Given the description of an element on the screen output the (x, y) to click on. 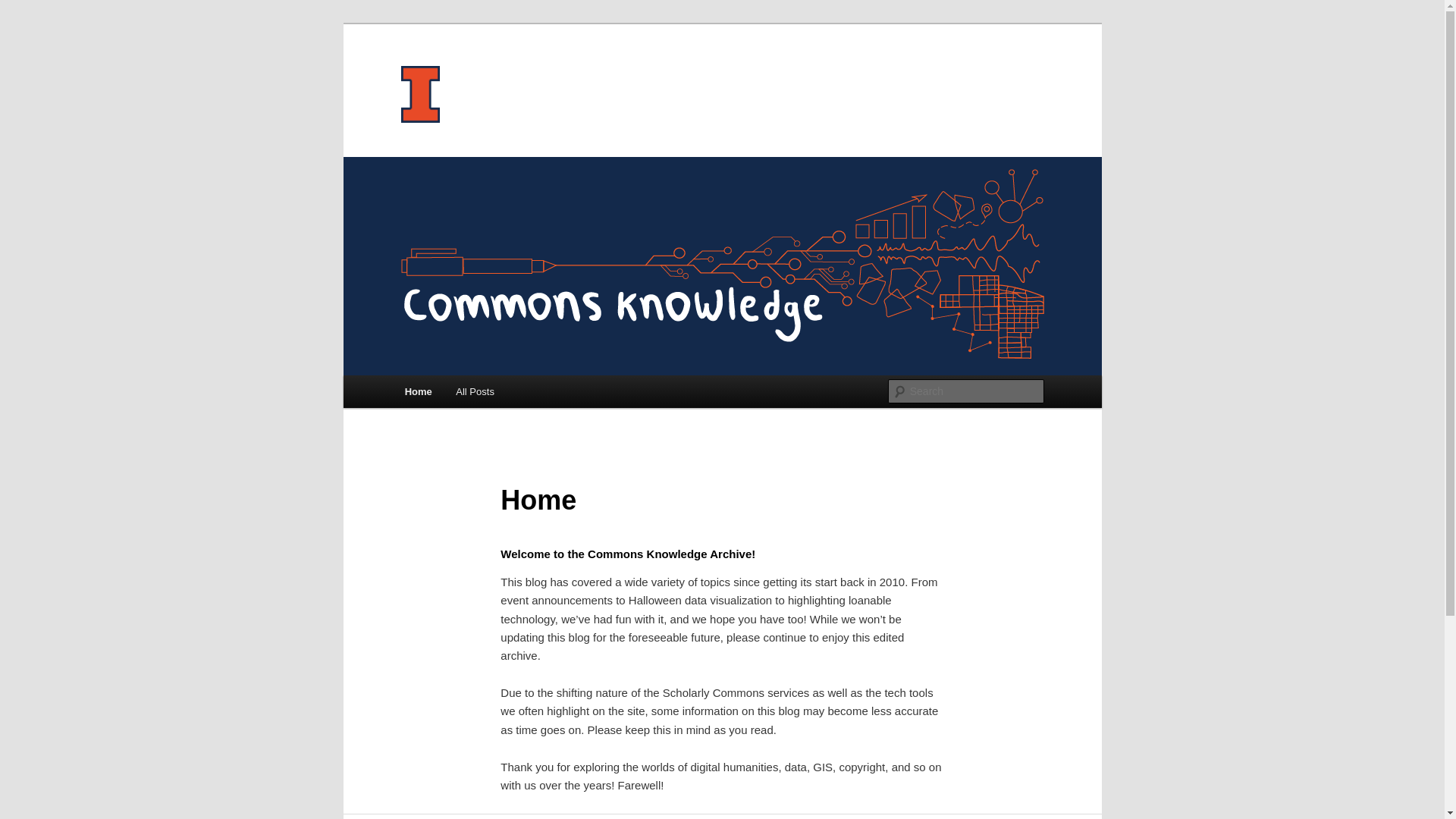
Search (24, 8)
Commons Knowledge (519, 78)
Home (418, 391)
All Posts (475, 391)
